Given the description of an element on the screen output the (x, y) to click on. 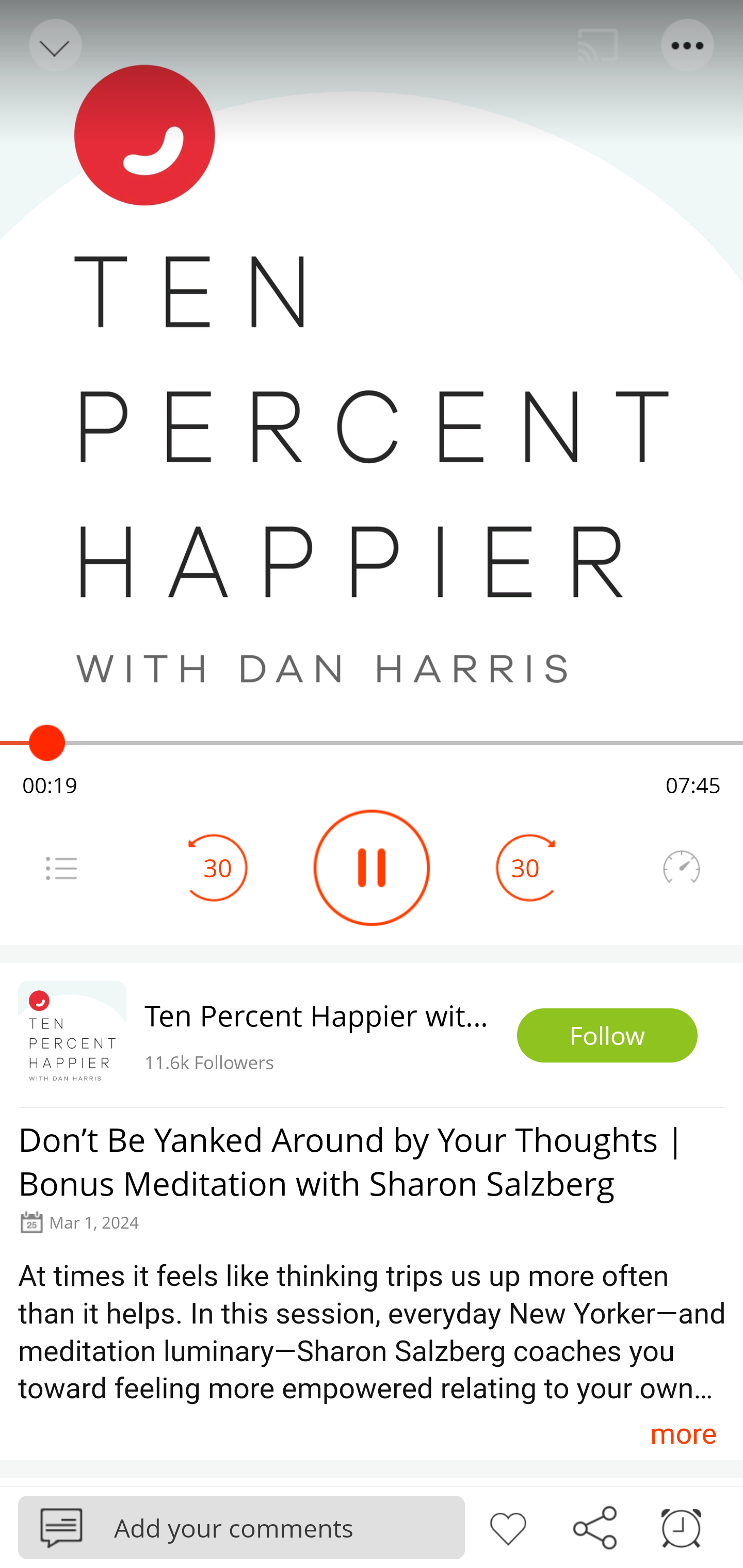
Back (53, 45)
Cast. Disconnected (597, 45)
Menu (688, 45)
Play (371, 867)
30 Seek Backward (217, 867)
30 Seek Forward (525, 867)
Menu (60, 867)
Speedometer (681, 867)
Follow (607, 1035)
more (682, 1432)
Like (508, 1526)
Share (594, 1526)
Sleep timer (681, 1526)
Podbean Add your comments (241, 1526)
